Given the description of an element on the screen output the (x, y) to click on. 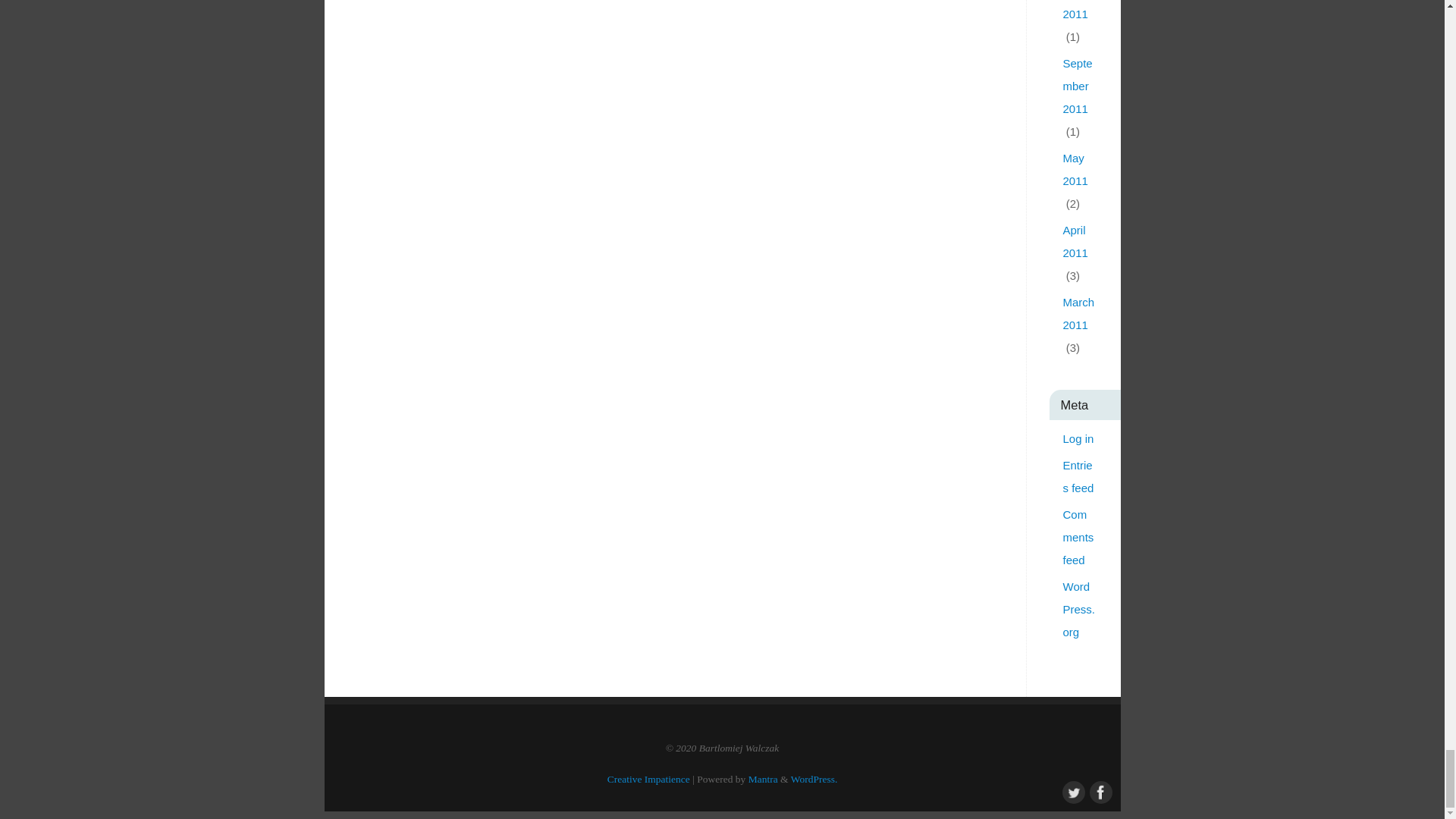
Creative Impatience (648, 778)
Mantra Theme by Cryout Creations (762, 778)
